Given the description of an element on the screen output the (x, y) to click on. 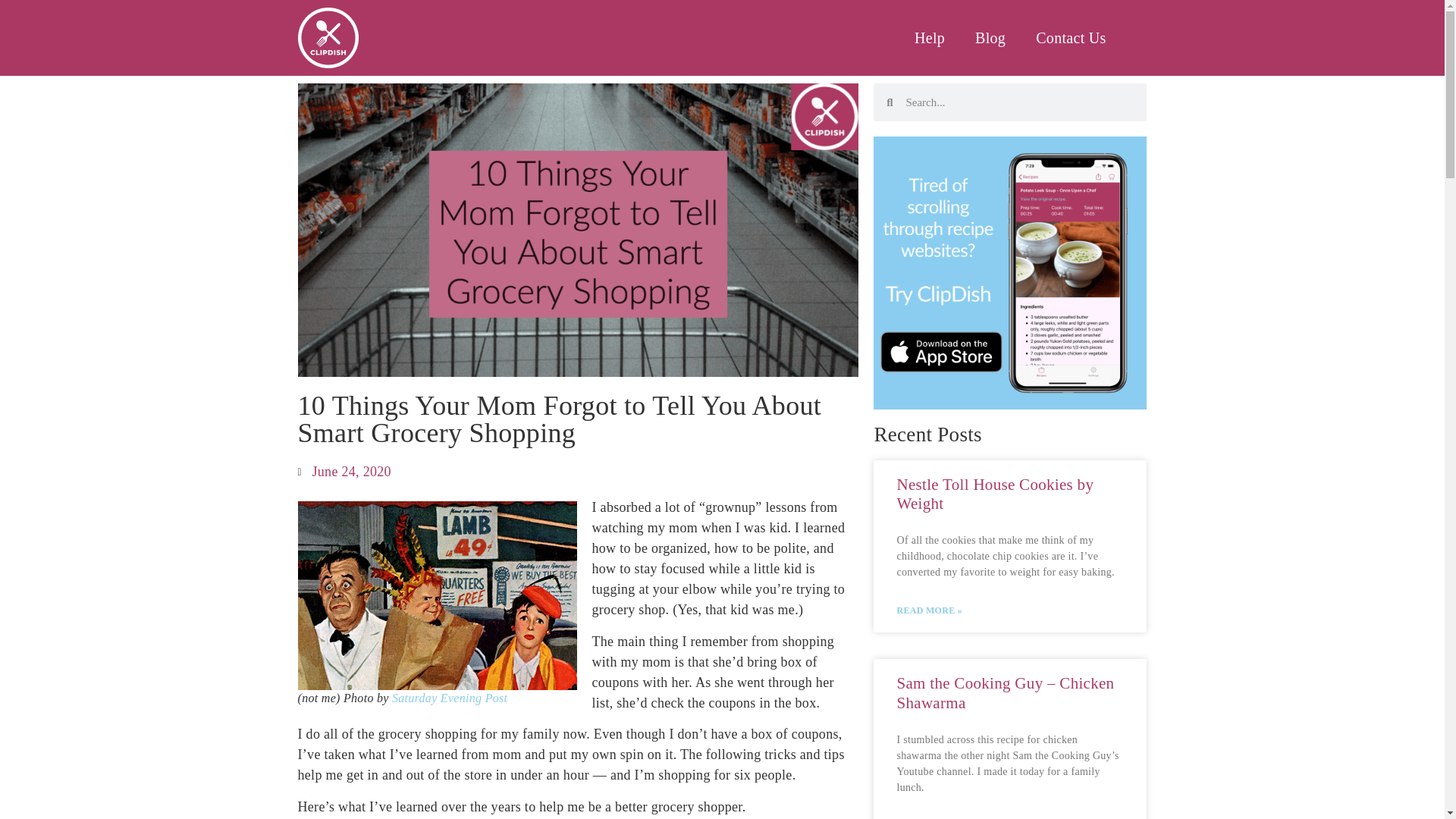
Help (929, 37)
Saturday Evening Post (448, 697)
Contact Us (1070, 37)
Nestle Toll House Cookies by Weight (994, 493)
Blog (989, 37)
